Given the description of an element on the screen output the (x, y) to click on. 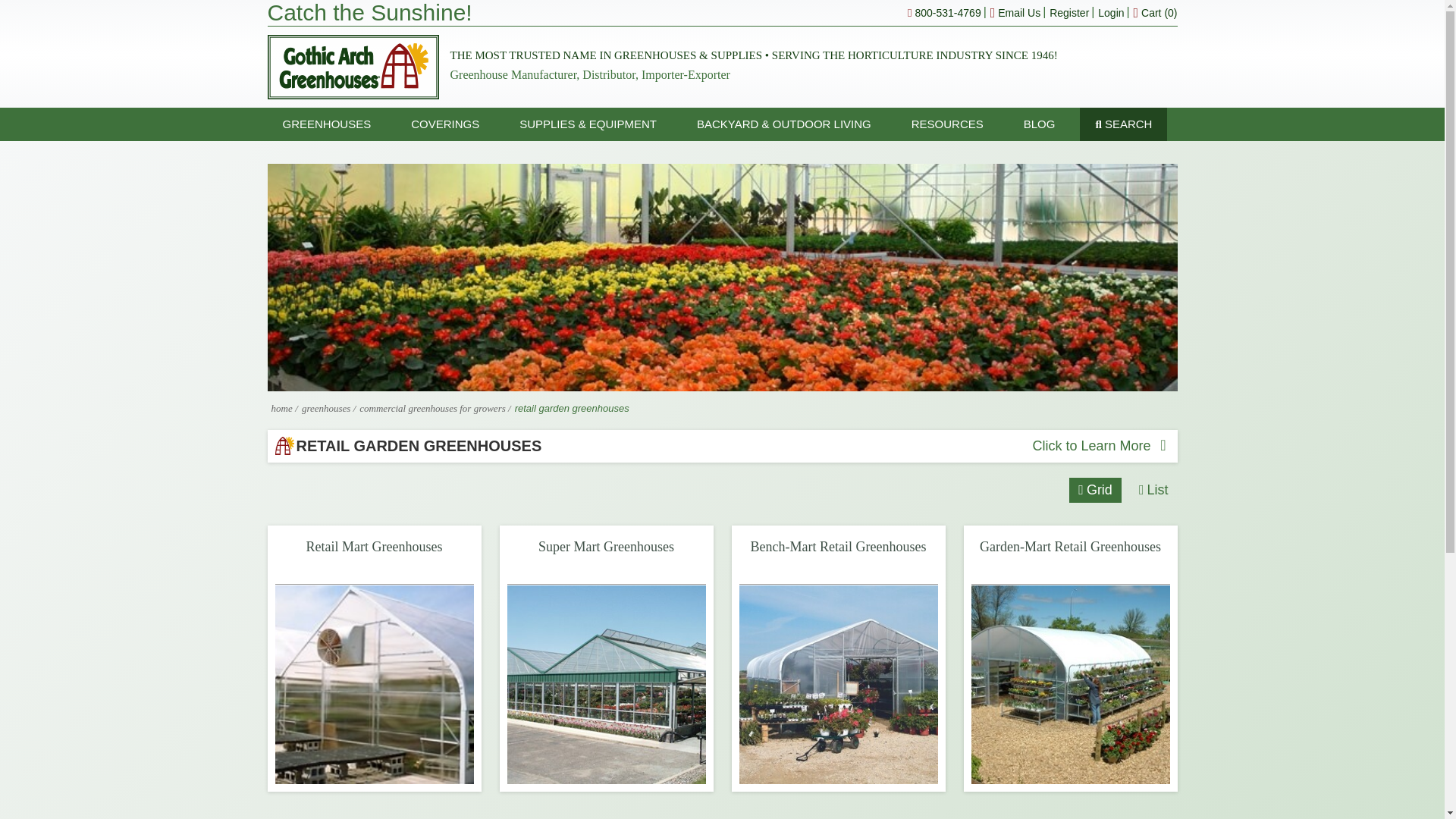
800-531-4769 (944, 12)
Show details for Retail Mart Greenhouses (374, 684)
GREENHOUSES (325, 123)
Email Us (1015, 12)
Commercial Greenhouses for Growers (433, 408)
Login (1110, 12)
Garden-Mart  Retail Greenhouses (1070, 684)
COVERINGS (445, 123)
 Gothic Arch Greenhouses (352, 67)
Register (1069, 12)
Greenhouses  (327, 408)
Show details for Super Mart Greenhouses (605, 684)
Home (281, 408)
Bench-Mart Retail Greenhouse (837, 684)
